Given the description of an element on the screen output the (x, y) to click on. 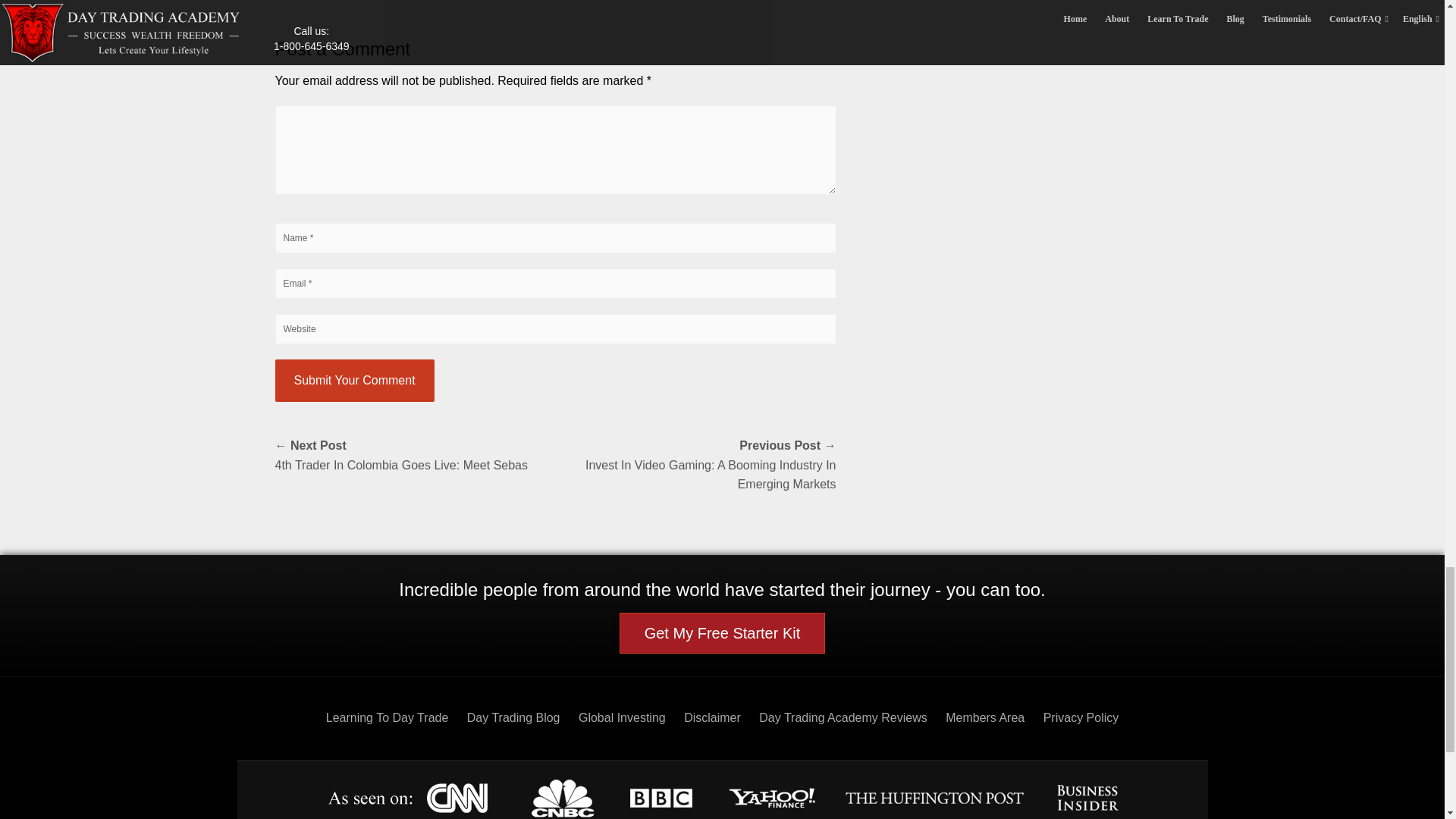
Global Investing (621, 717)
Day Trading Blog (513, 717)
Get My Free Starter Kit (722, 632)
4th Trader In Colombia Goes Live: Meet Sebas (414, 455)
Submit Your Comment (354, 380)
Learning To Day Trade (387, 717)
Submit Your Comment (354, 380)
